Given the description of an element on the screen output the (x, y) to click on. 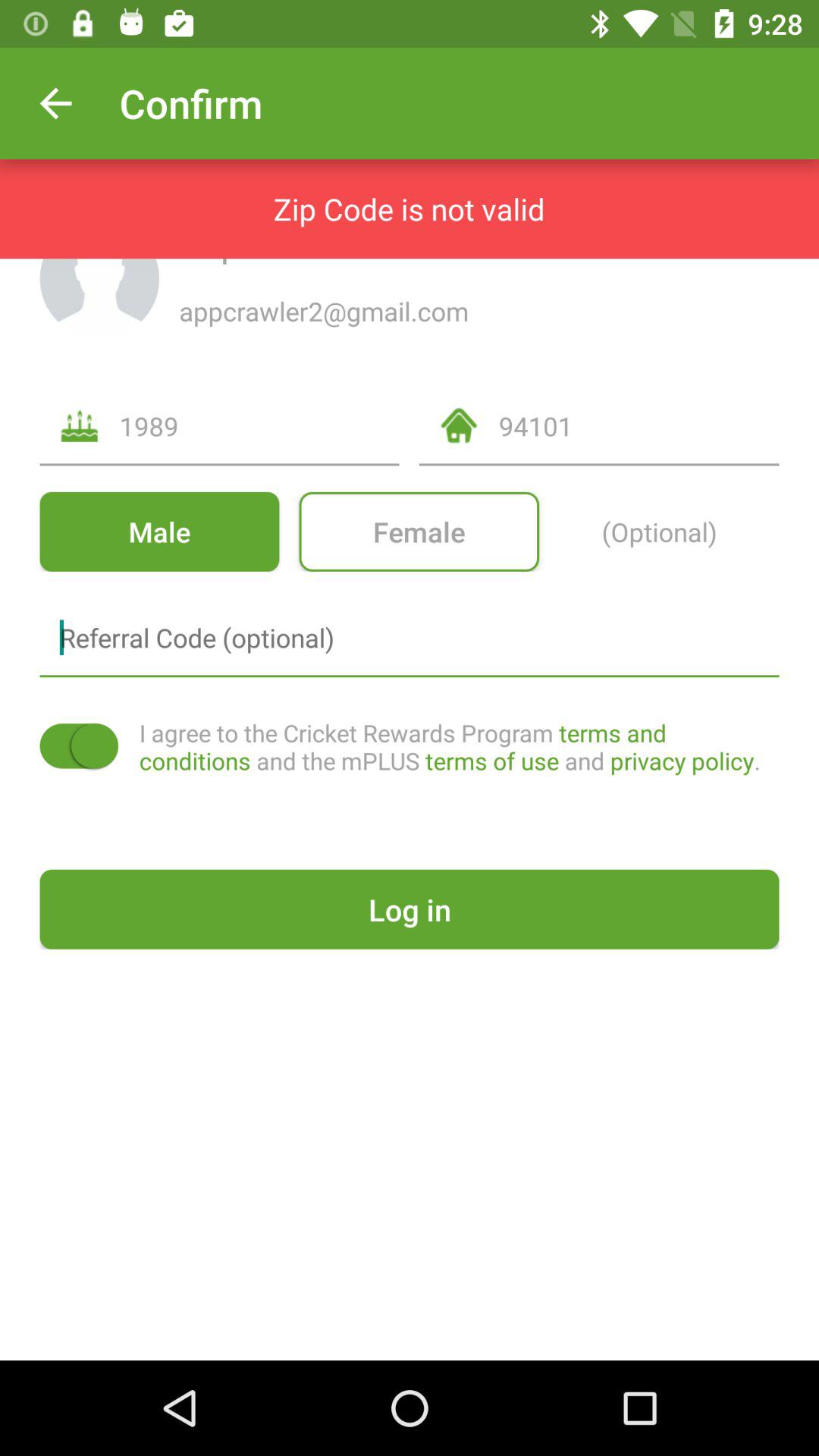
flip until log in (409, 909)
